Given the description of an element on the screen output the (x, y) to click on. 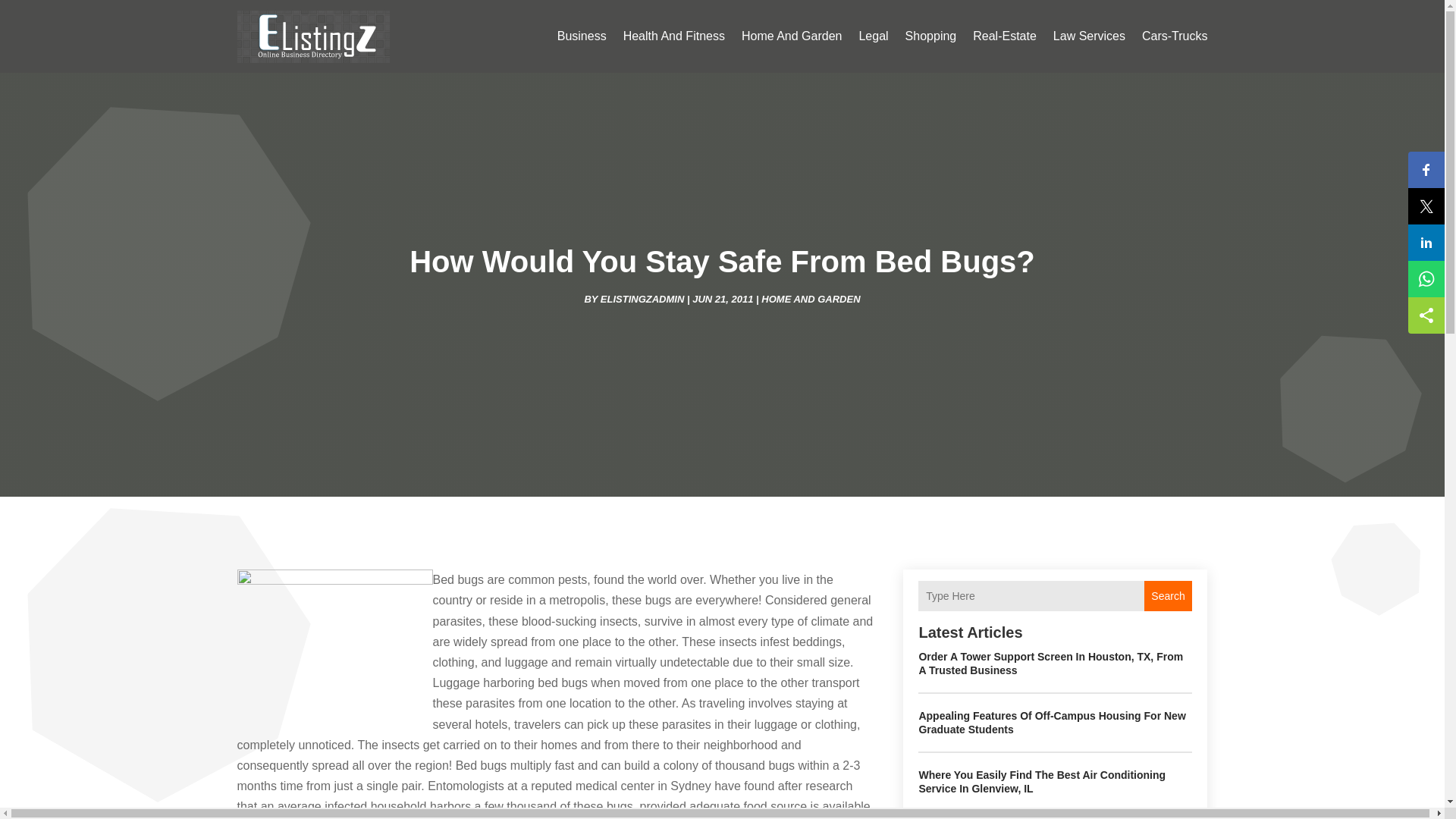
Home And Garden (792, 36)
HOME AND GARDEN (810, 297)
Real-Estate (1004, 36)
Law Services (1088, 36)
ELISTINGZADMIN (641, 297)
Health And Fitness (674, 36)
Shopping (930, 36)
Cars-Trucks (1174, 36)
Posts by elistingzadmin (641, 297)
Search (1168, 595)
